Given the description of an element on the screen output the (x, y) to click on. 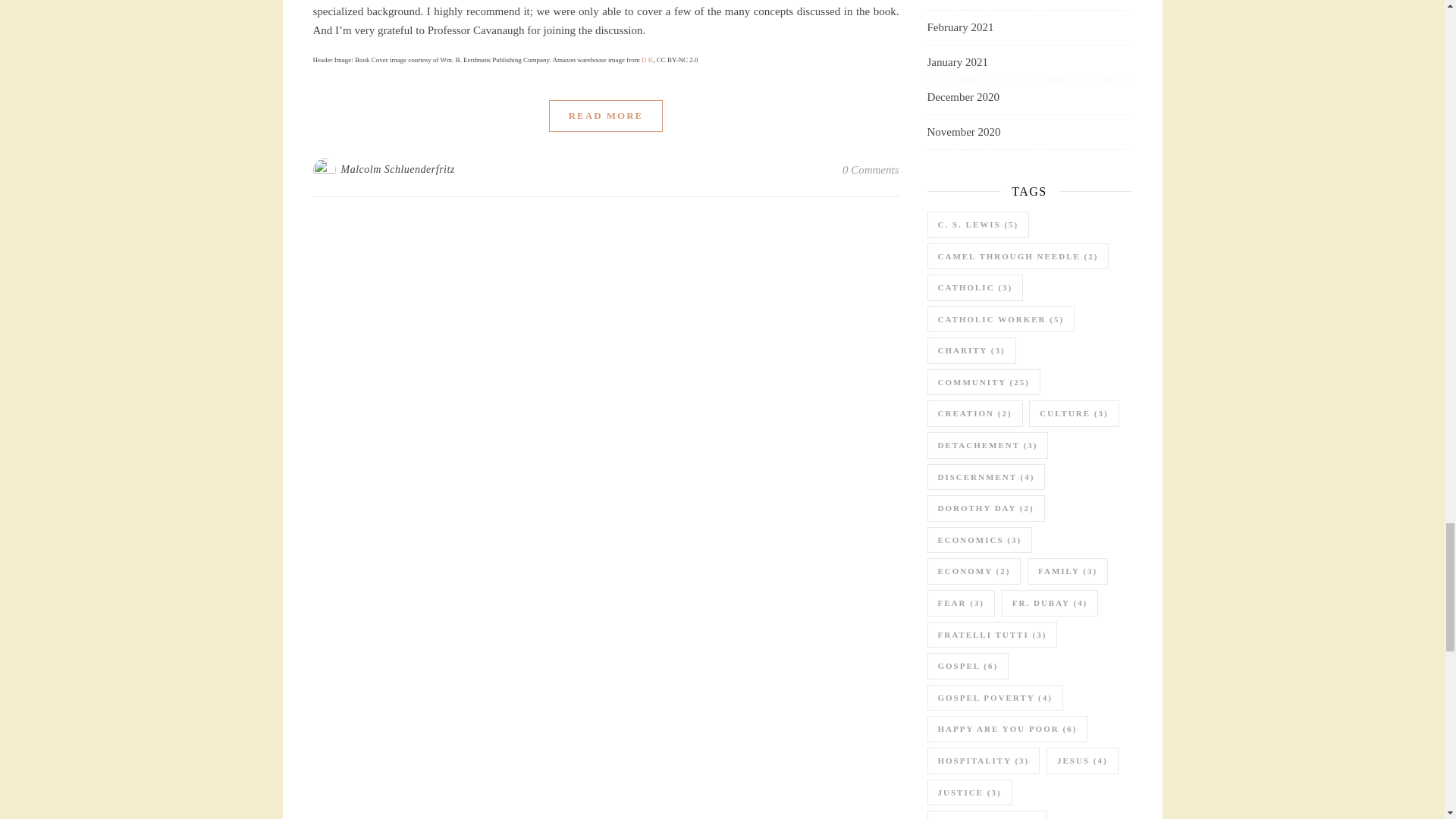
Posts by Malcolm Schluenderfritz (397, 169)
